Given the description of an element on the screen output the (x, y) to click on. 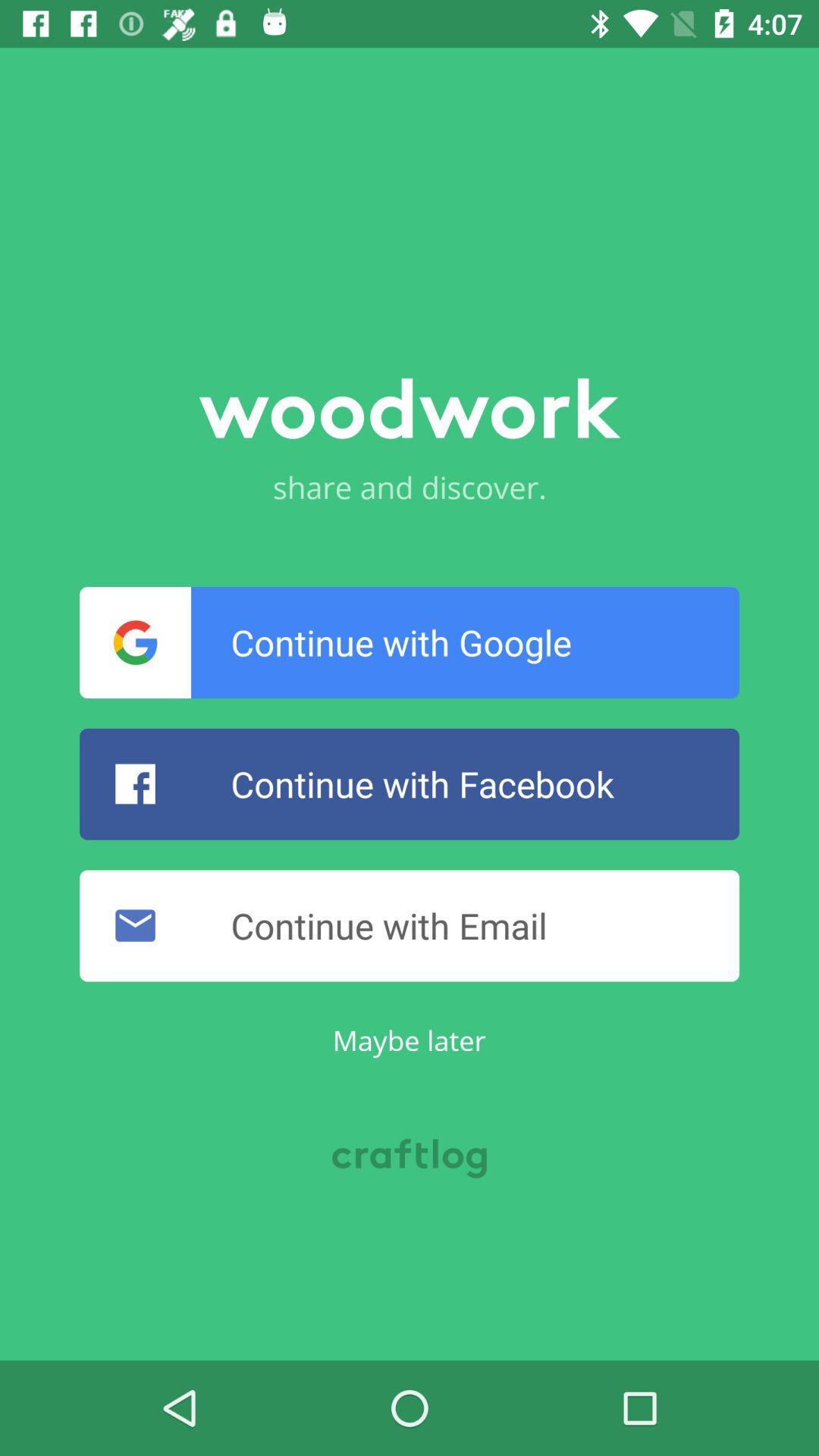
tap item below the continue with email icon (408, 1040)
